Given the description of an element on the screen output the (x, y) to click on. 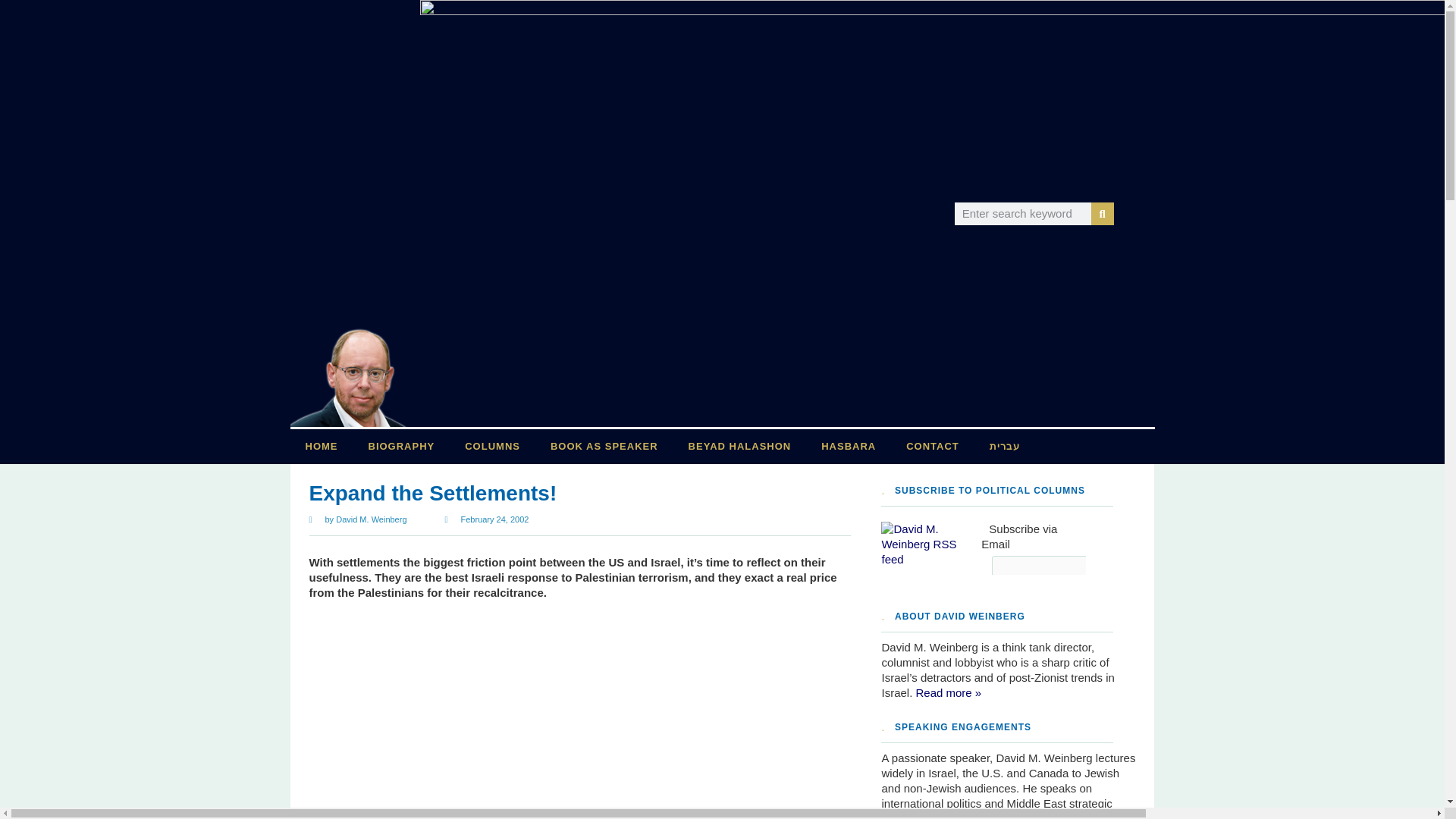
COLUMNS (492, 446)
Settlement (410, 713)
HASBARA (848, 446)
HOME (320, 446)
BIOGRAPHY (401, 446)
by David M. Weinberg (357, 519)
Subscribe to David Weinberg's Columns (930, 558)
Go (1118, 569)
CONTACT (932, 446)
BEYAD HALASHON (739, 446)
